Given the description of an element on the screen output the (x, y) to click on. 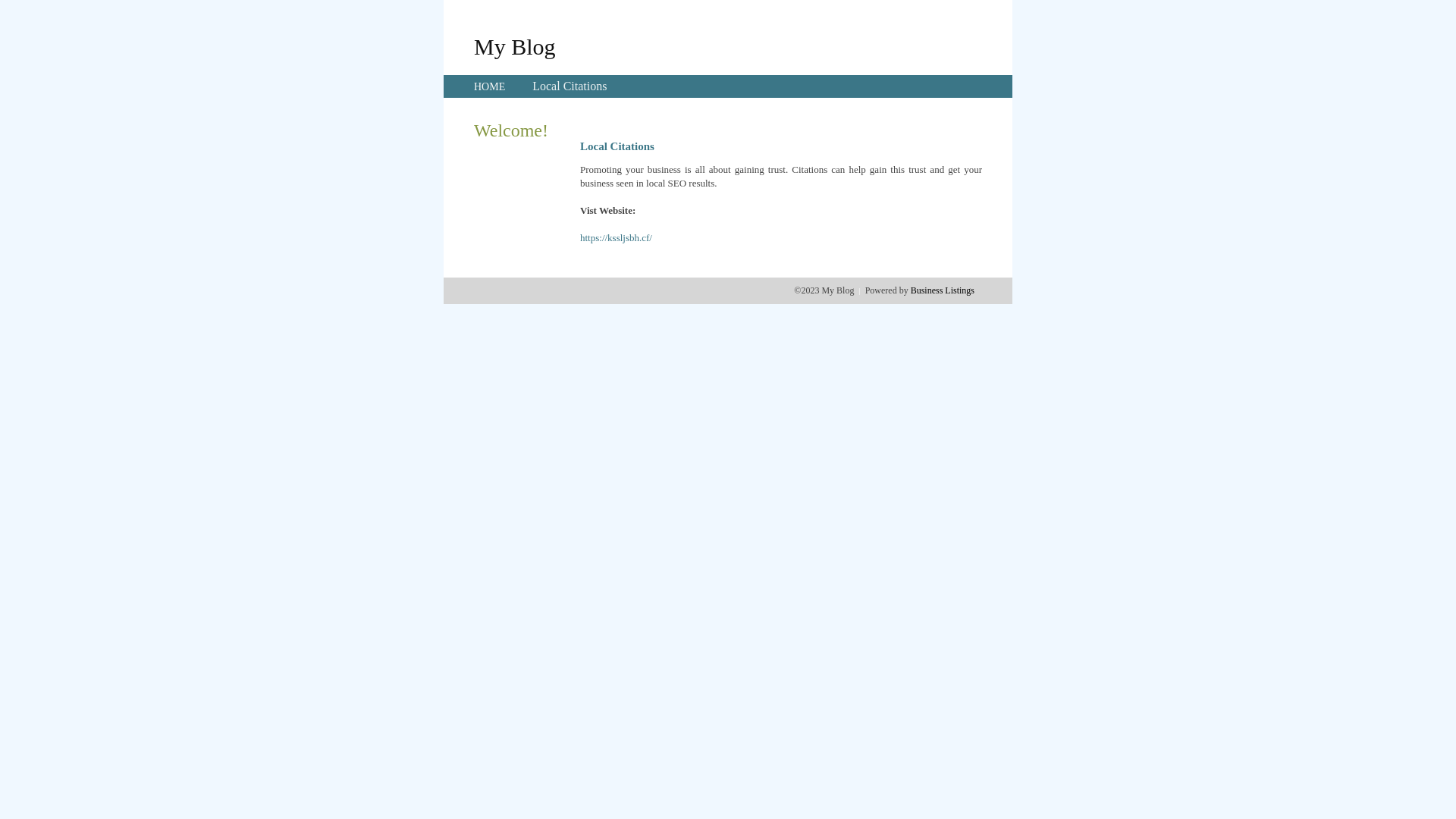
https://kssljsbh.cf/ Element type: text (616, 237)
Business Listings Element type: text (942, 290)
My Blog Element type: text (514, 46)
Local Citations Element type: text (569, 85)
HOME Element type: text (489, 86)
